Given the description of an element on the screen output the (x, y) to click on. 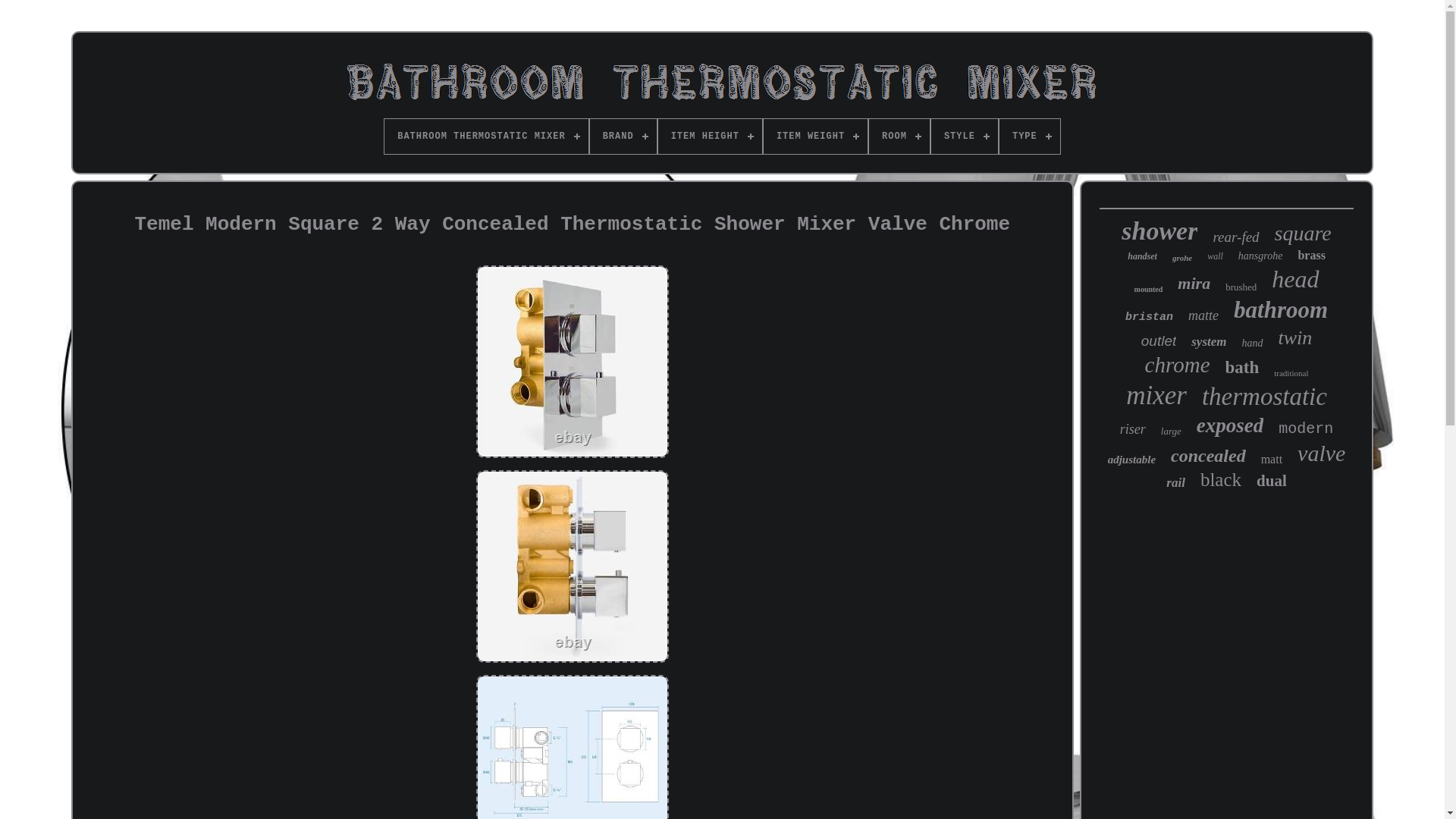
ITEM HEIGHT (709, 135)
BATHROOM THERMOSTATIC MIXER (486, 135)
BRAND (622, 135)
